Given the description of an element on the screen output the (x, y) to click on. 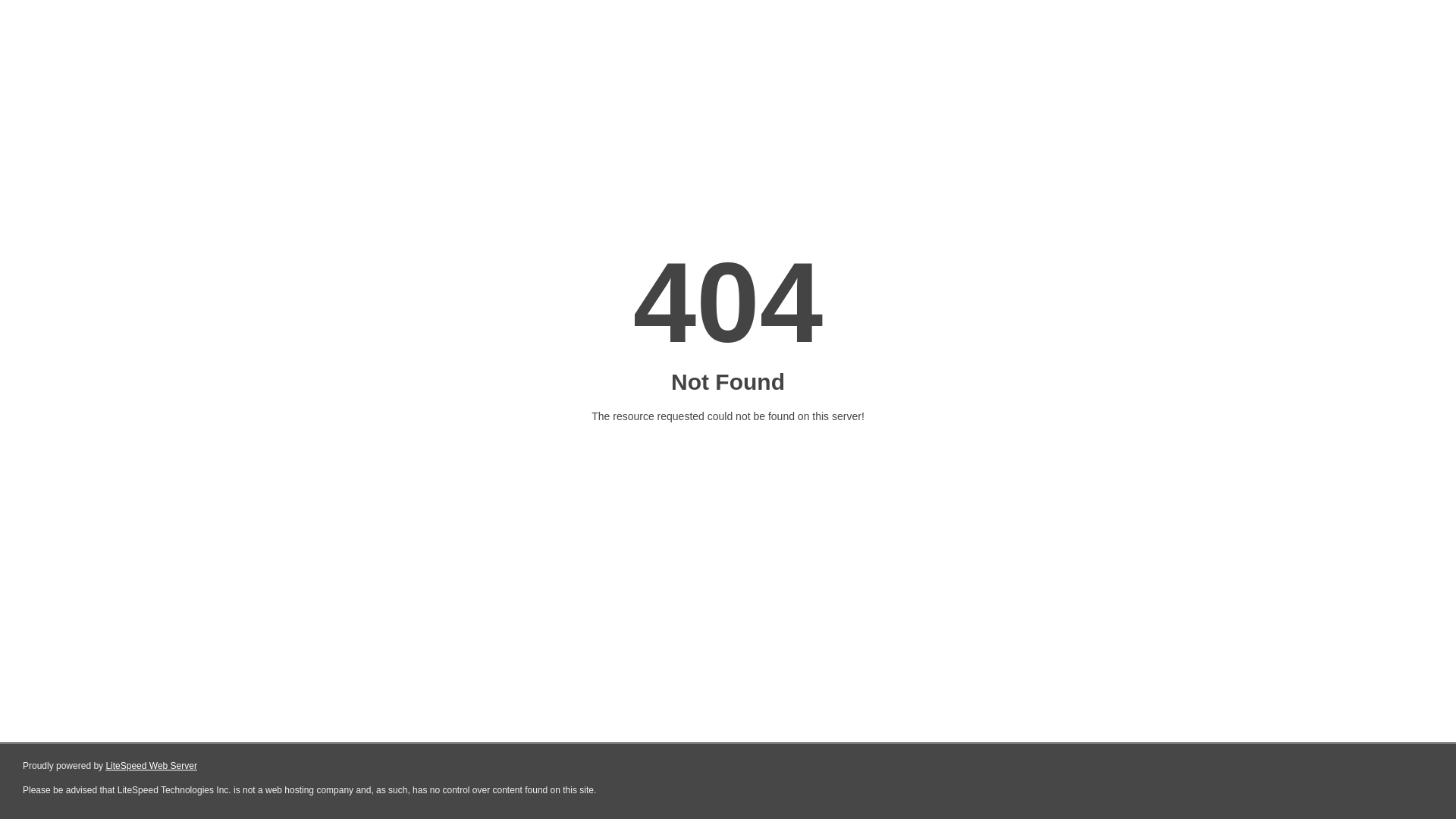
LiteSpeed Web Server Element type: text (151, 765)
